Given the description of an element on the screen output the (x, y) to click on. 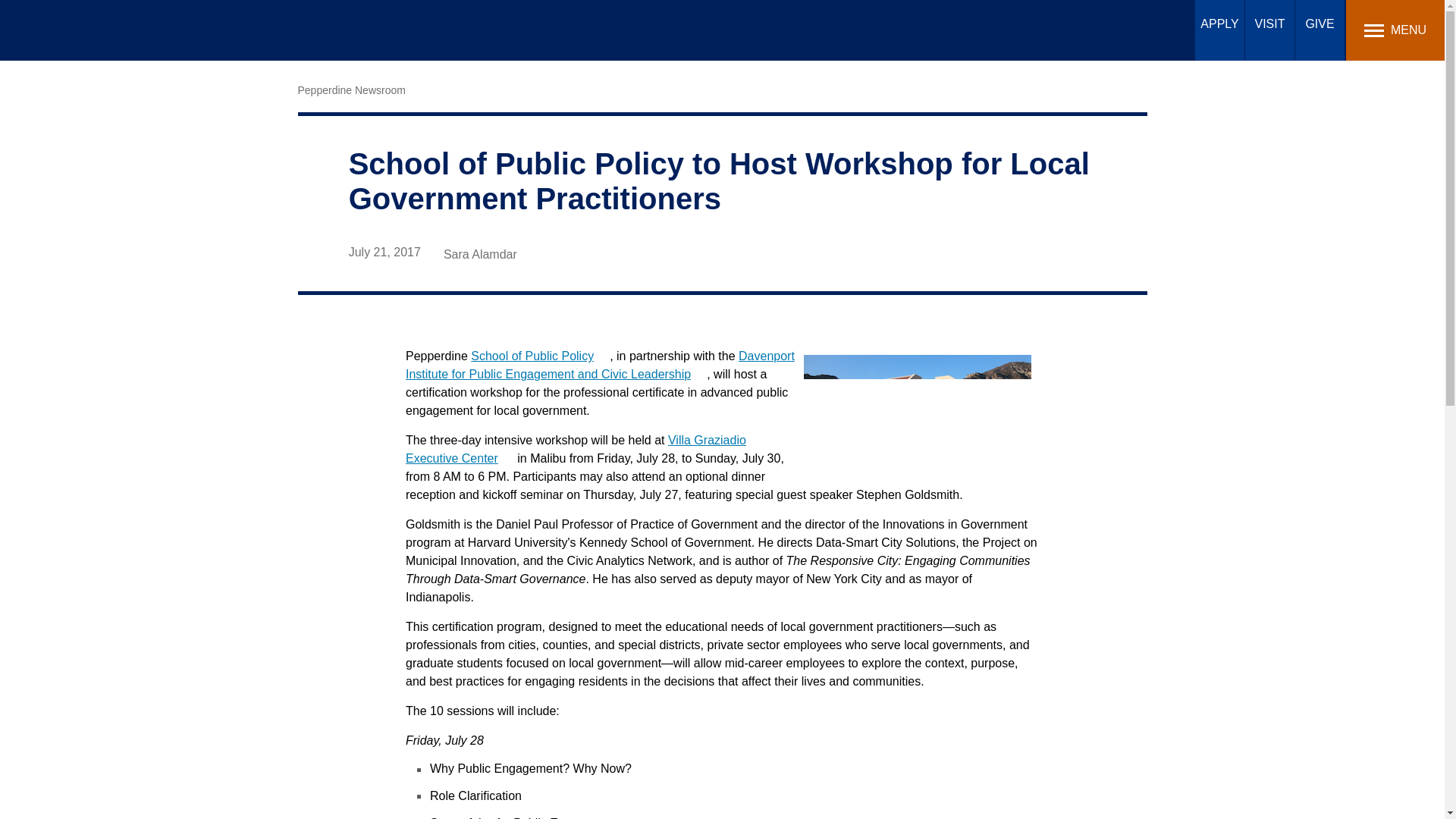
Submit (476, 19)
open search (1182, 29)
Pepperdine University (120, 30)
